Given the description of an element on the screen output the (x, y) to click on. 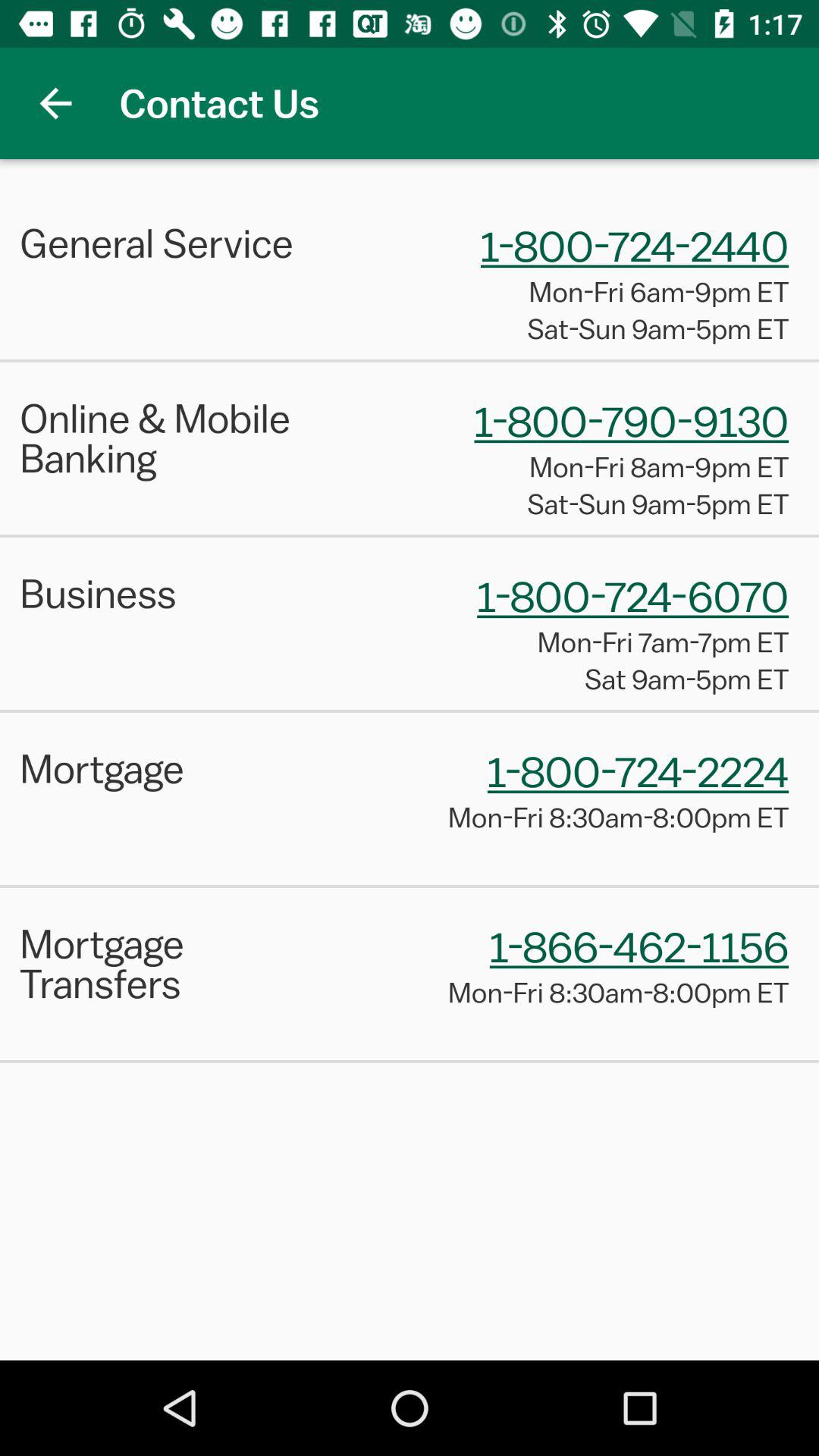
click item next to 1 800 724 (179, 592)
